Given the description of an element on the screen output the (x, y) to click on. 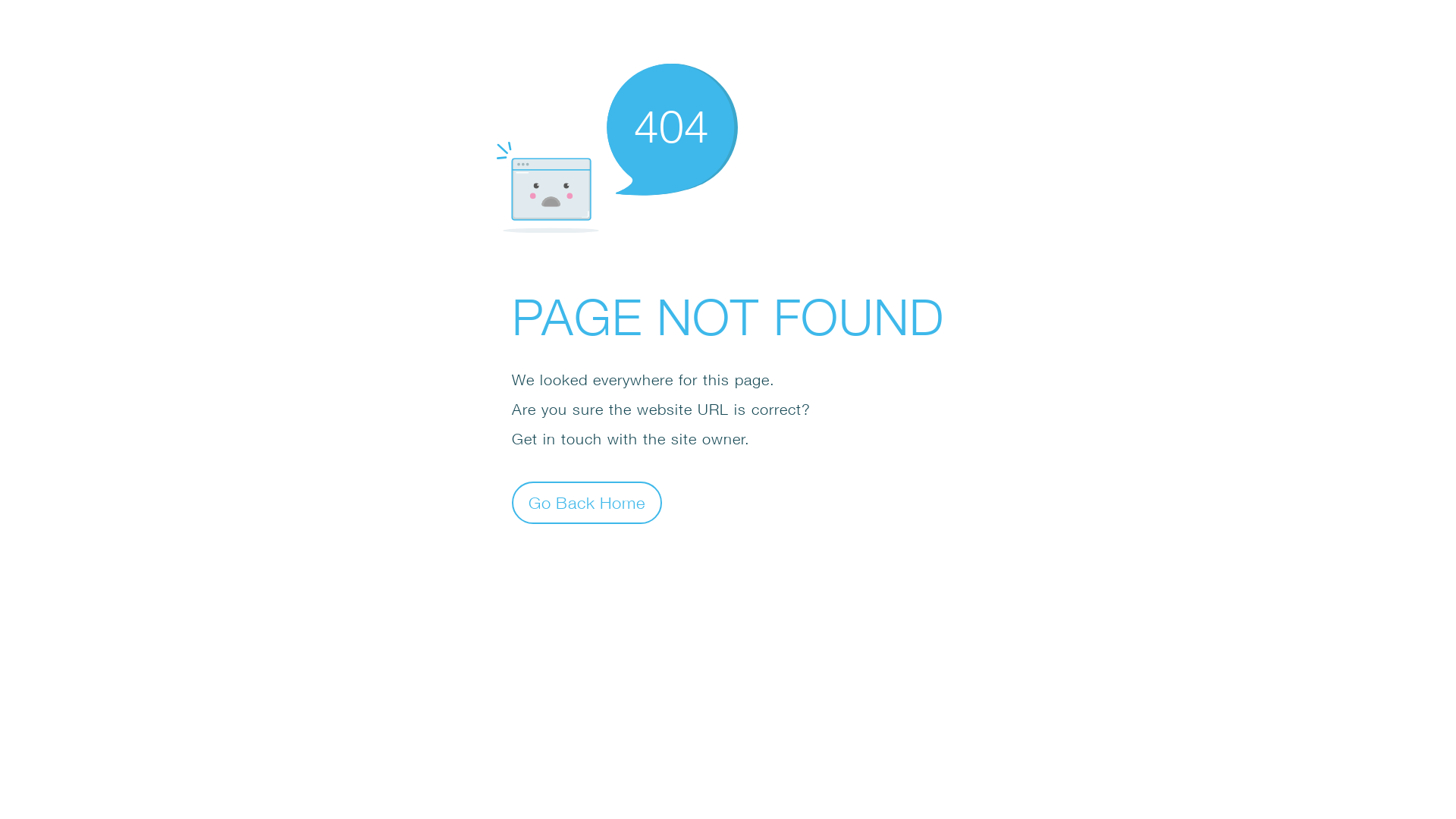
Go Back Home Element type: text (586, 502)
